Given the description of an element on the screen output the (x, y) to click on. 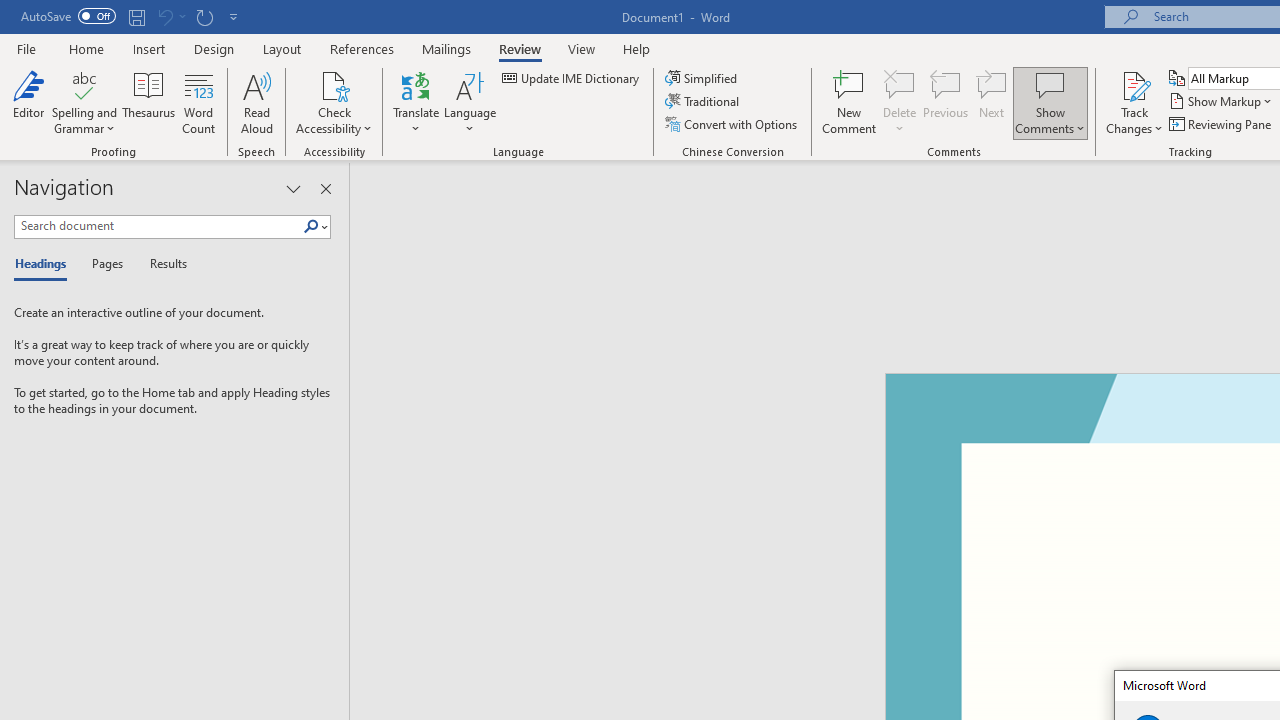
Repeat Doc Close (204, 15)
Convert with Options... (732, 124)
Thesaurus... (148, 102)
Can't Undo (170, 15)
Show Comments (1050, 102)
